Given the description of an element on the screen output the (x, y) to click on. 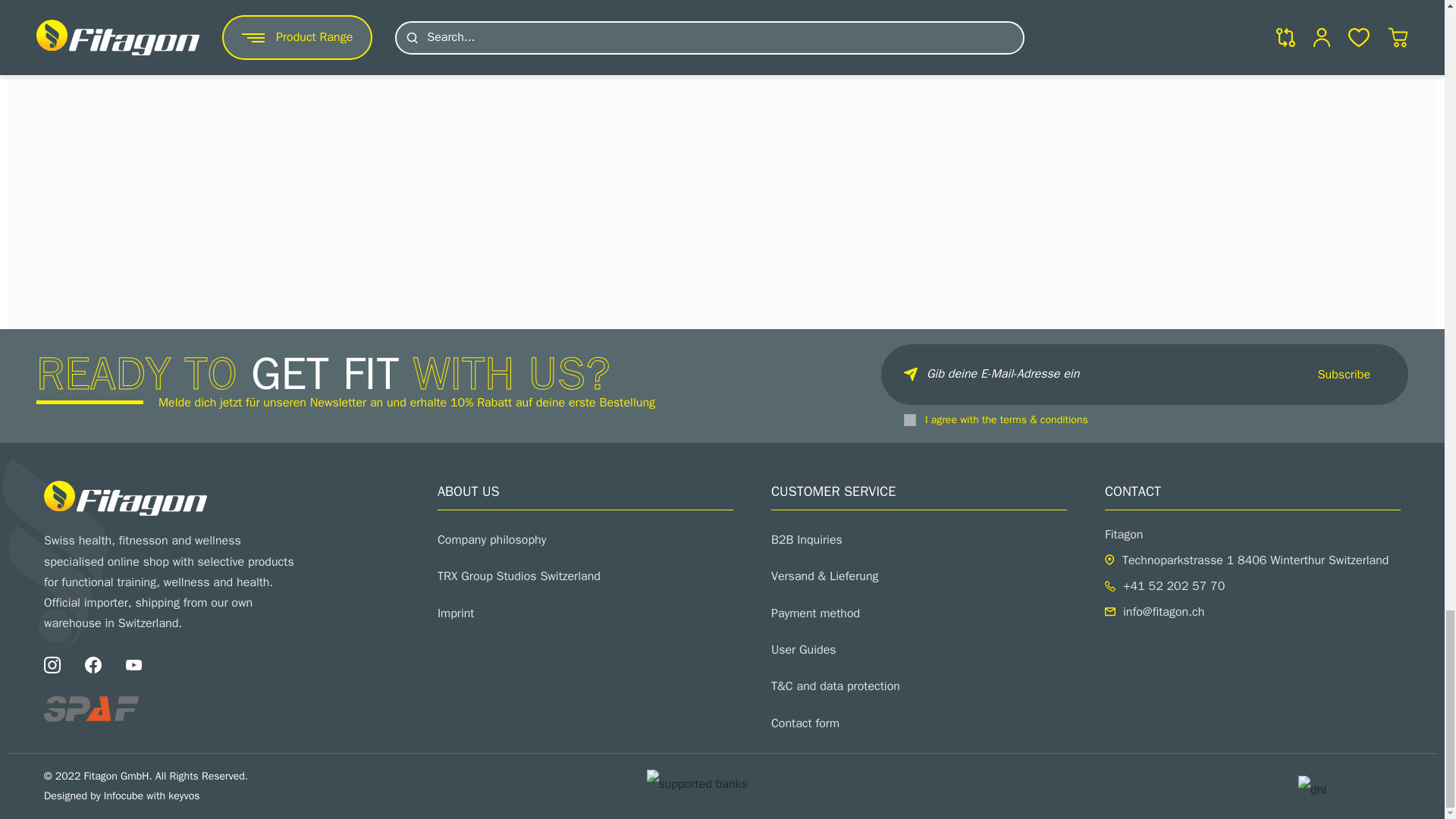
Subscribe (1344, 374)
Subscribe to our newsletter... (1143, 373)
on (909, 419)
